Given the description of an element on the screen output the (x, y) to click on. 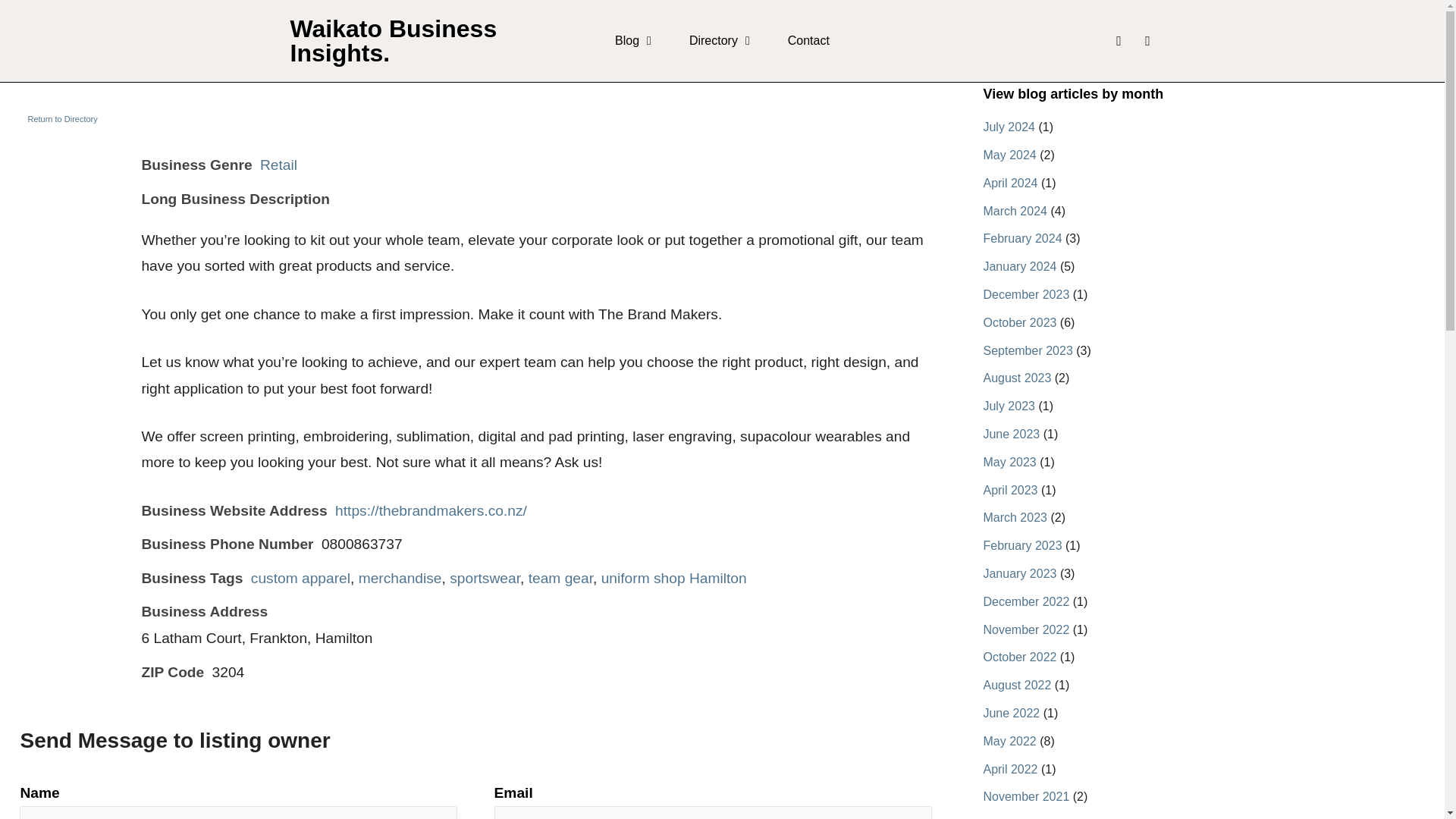
August 2023 (1016, 377)
January 2024 (1019, 266)
Retail (278, 164)
June 2023 (1010, 433)
September 2023 (1026, 350)
sportswear (484, 578)
Waikato Business Insights. (392, 40)
Blog (632, 40)
March 2023 (1014, 517)
February 2023 (1021, 545)
